Given the description of an element on the screen output the (x, y) to click on. 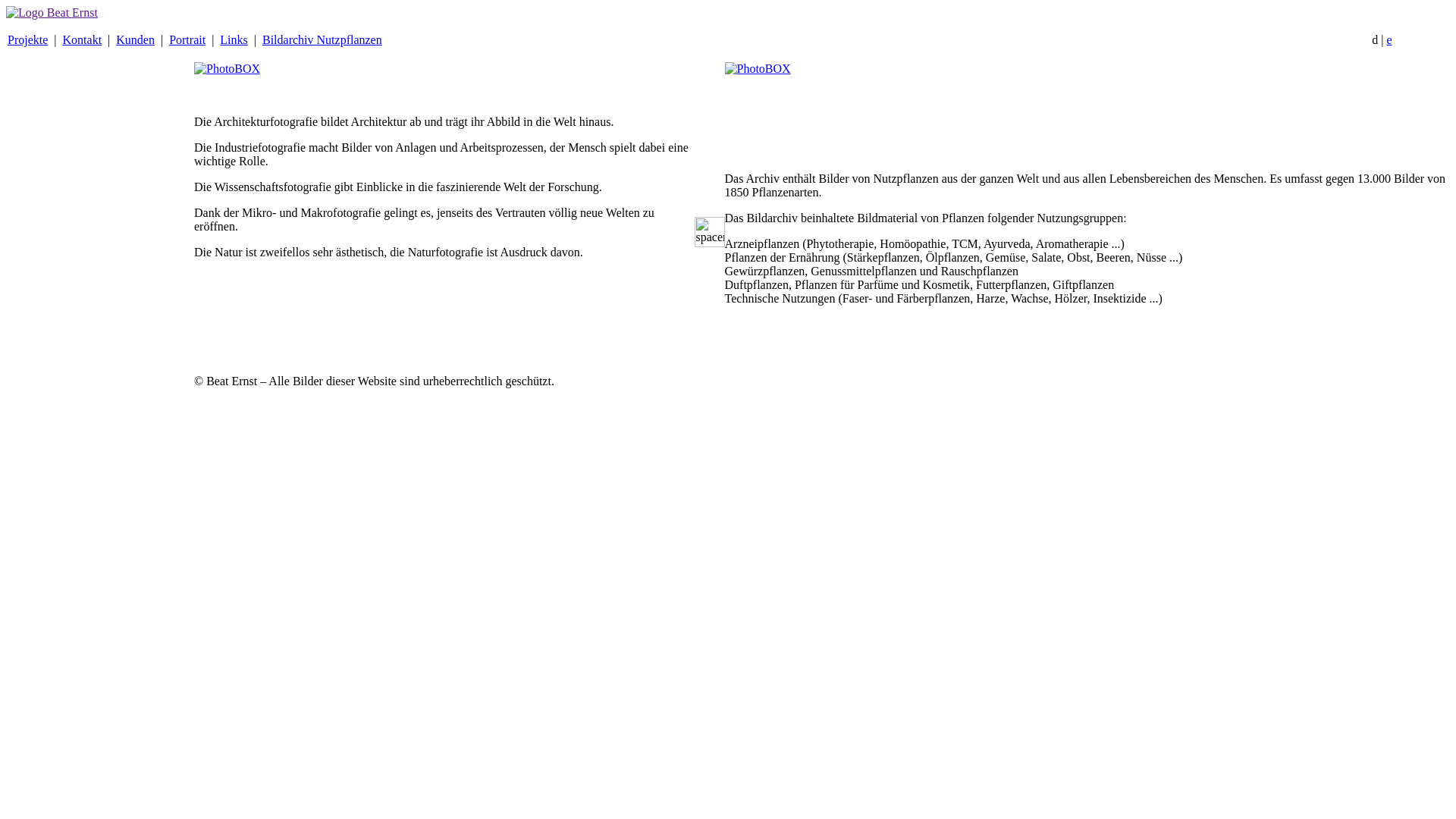
e Element type: text (1388, 39)
Portrait Element type: text (187, 39)
Projekte Element type: text (27, 39)
Kunden Element type: text (135, 39)
Links Element type: text (233, 39)
Kontakt Element type: text (82, 39)
Bildarchiv Nutzpflanzen Element type: text (322, 39)
